Given the description of an element on the screen output the (x, y) to click on. 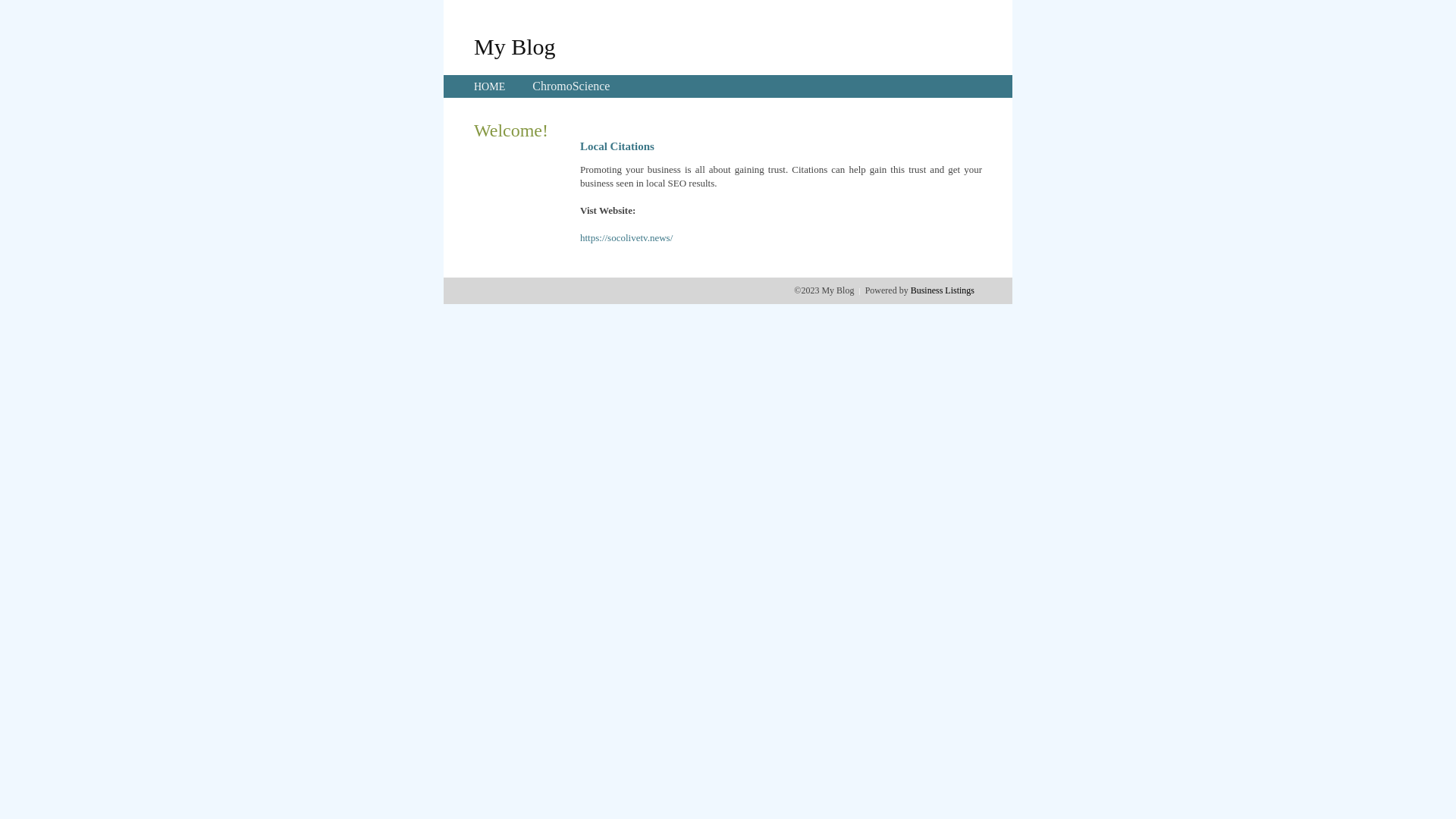
https://socolivetv.news/ Element type: text (626, 237)
ChromoScience Element type: text (570, 85)
HOME Element type: text (489, 86)
Business Listings Element type: text (942, 290)
My Blog Element type: text (514, 46)
